Given the description of an element on the screen output the (x, y) to click on. 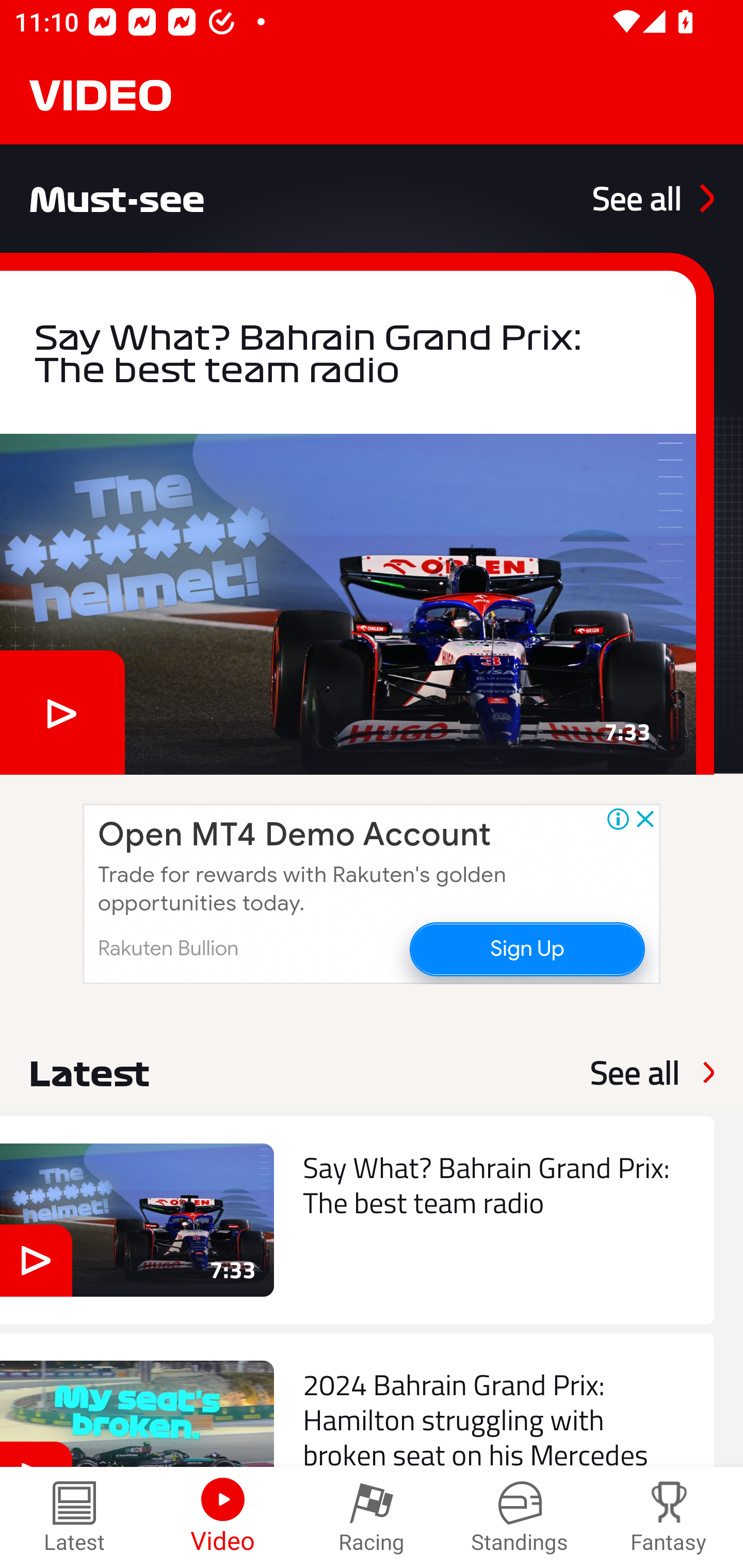
See all (653, 198)
Open MT4 Demo Account (294, 834)
Sign Up (526, 948)
Rakuten Bullion (168, 948)
See all (634, 1072)
Latest (74, 1517)
Racing (371, 1517)
Standings (519, 1517)
Fantasy (668, 1517)
